Given the description of an element on the screen output the (x, y) to click on. 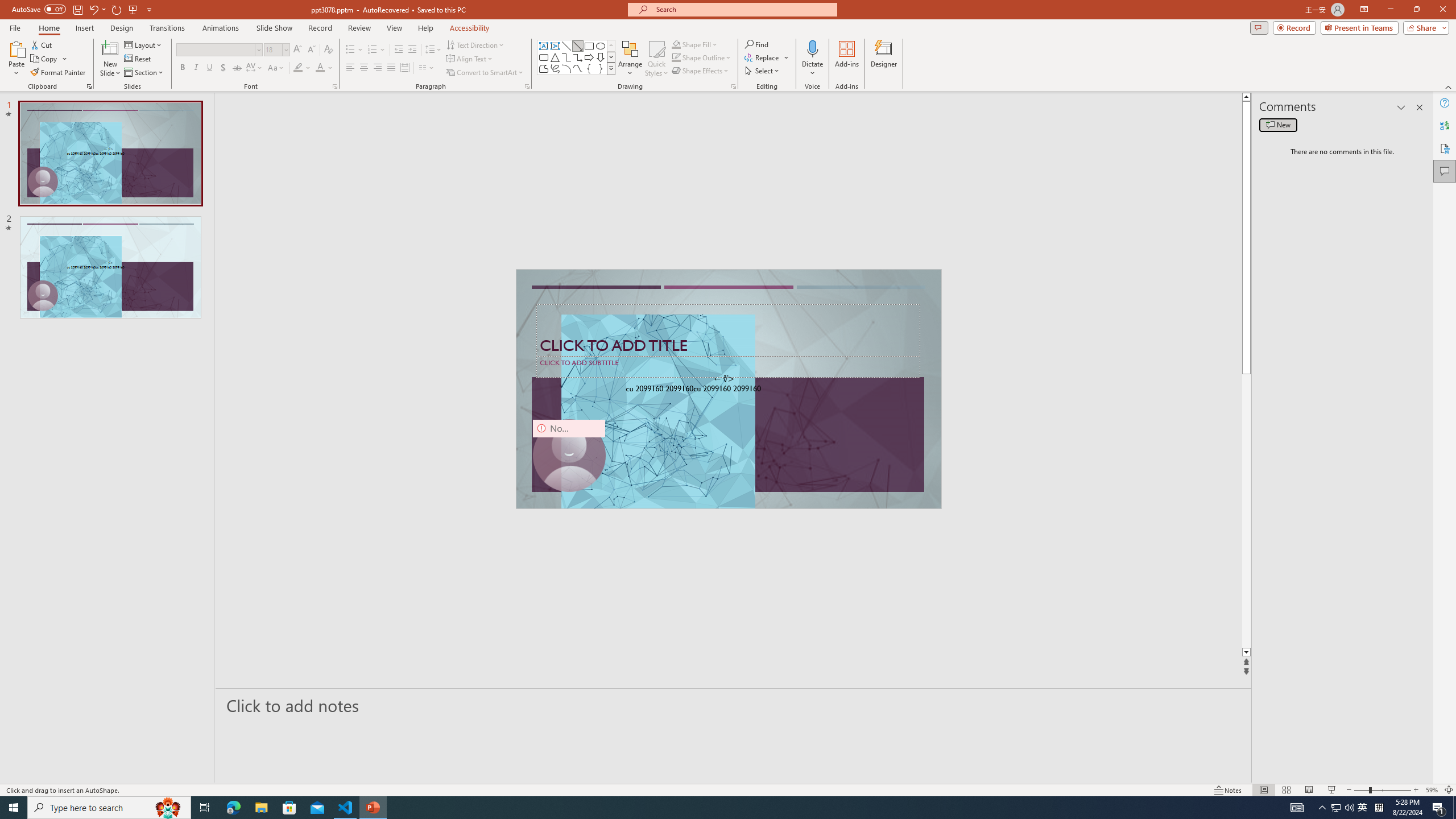
New comment (1278, 124)
Zoom 59% (1431, 790)
